Given the description of an element on the screen output the (x, y) to click on. 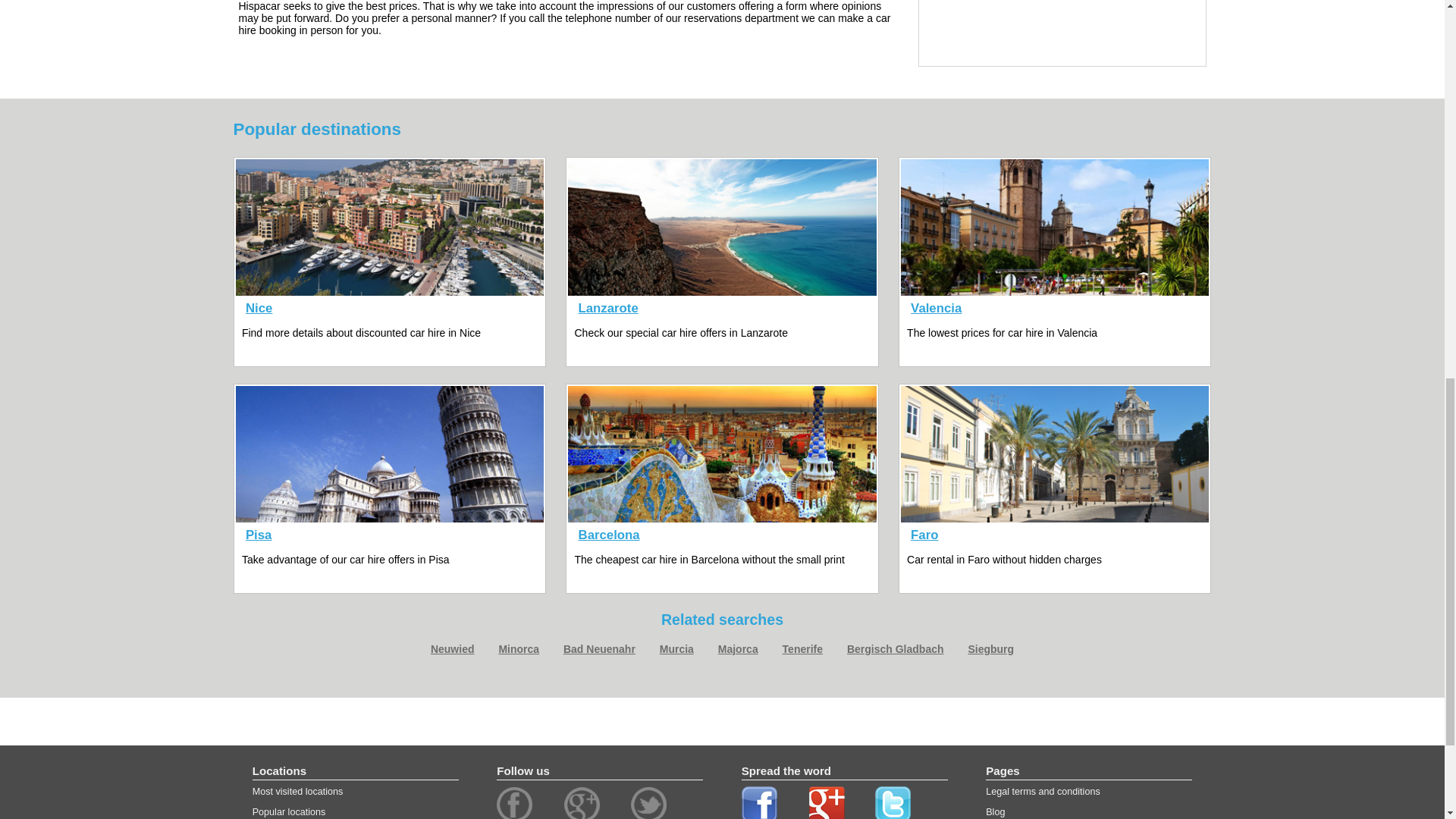
Pisa (259, 534)
Bad Neuenahr (598, 648)
Lanzarote (608, 308)
Minorca (517, 648)
Faro (924, 534)
Murcia (676, 648)
Neuwied (452, 648)
Barcelona (609, 534)
Nice (259, 308)
Tenerife (802, 648)
